Given the description of an element on the screen output the (x, y) to click on. 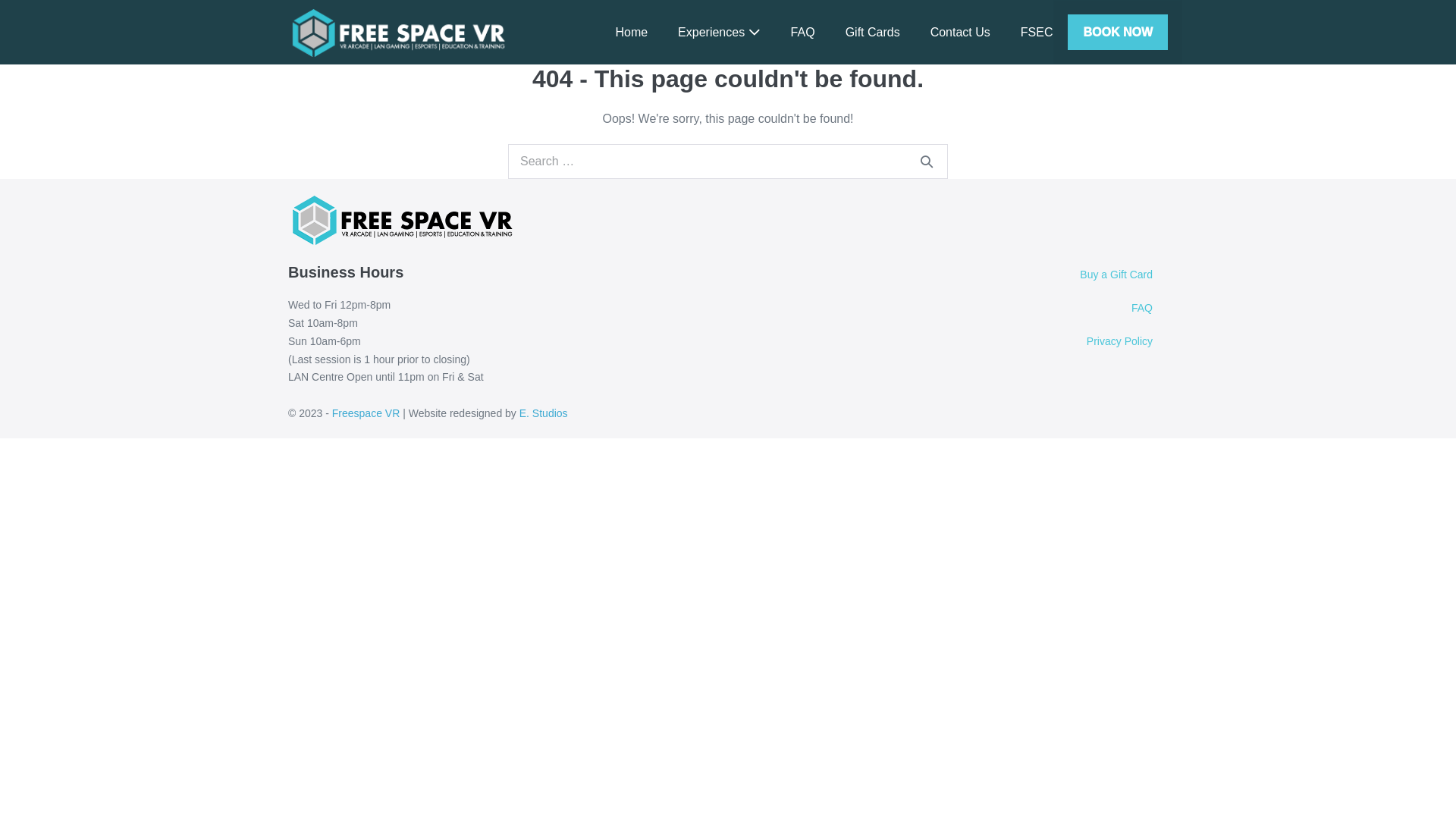
Press enter to search Element type: hover (727, 161)
Experiences Element type: text (718, 32)
Freespace VR Element type: hover (398, 31)
Gift Cards Element type: text (872, 32)
Contact Us Element type: text (960, 32)
Buy a Gift Card Element type: text (1041, 274)
Freespace VR Element type: text (365, 413)
BOOK NOW Element type: text (1117, 32)
FSEC Element type: text (1036, 32)
Search Element type: text (926, 161)
FAQ Element type: text (1041, 308)
Privacy Policy Element type: text (1041, 341)
FAQ Element type: text (802, 32)
Home Element type: text (630, 32)
E. Studios Element type: text (543, 413)
